Given the description of an element on the screen output the (x, y) to click on. 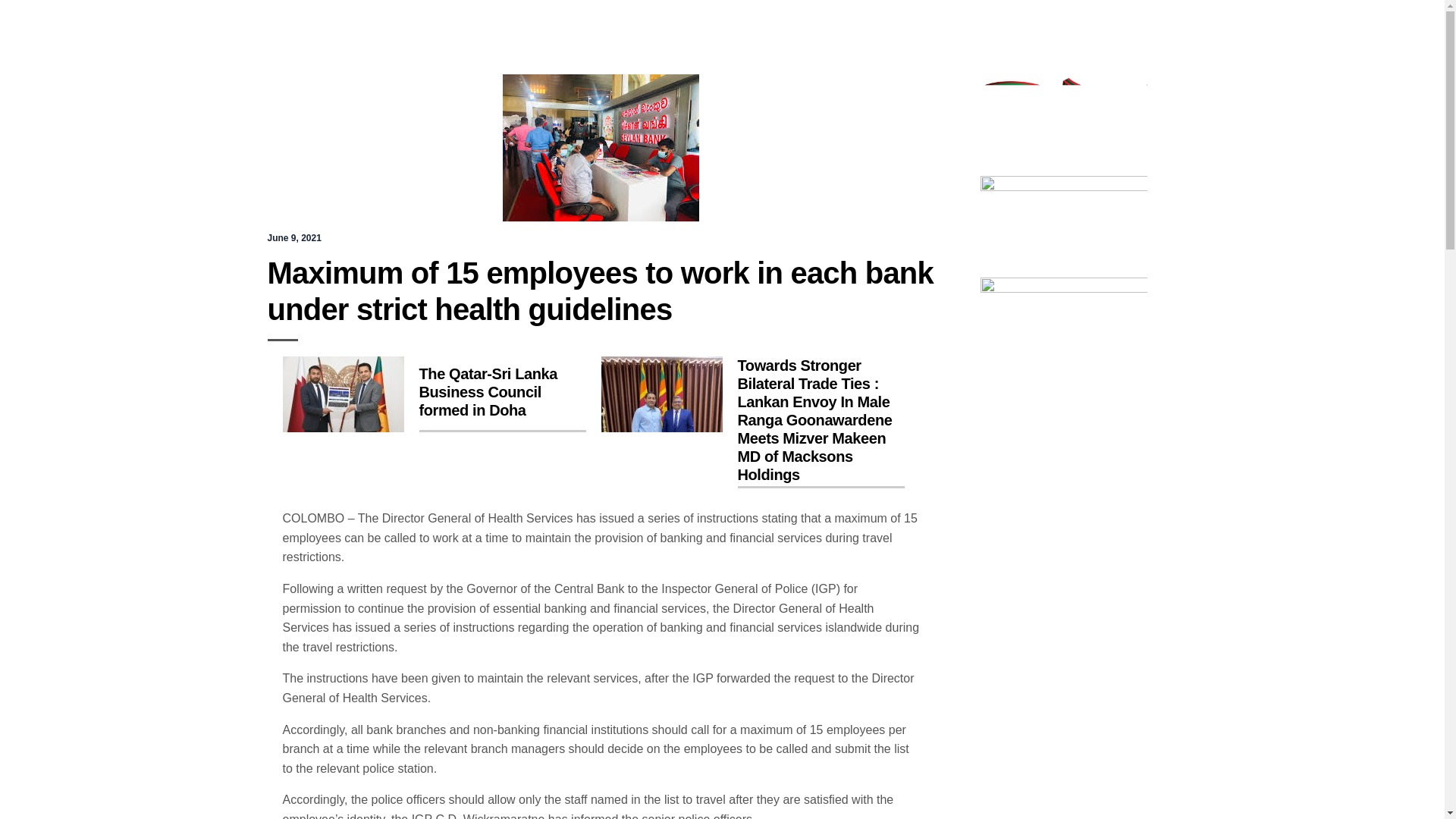
The Qatar-Sri Lanka Business Council formed in Doha (433, 394)
